Given the description of an element on the screen output the (x, y) to click on. 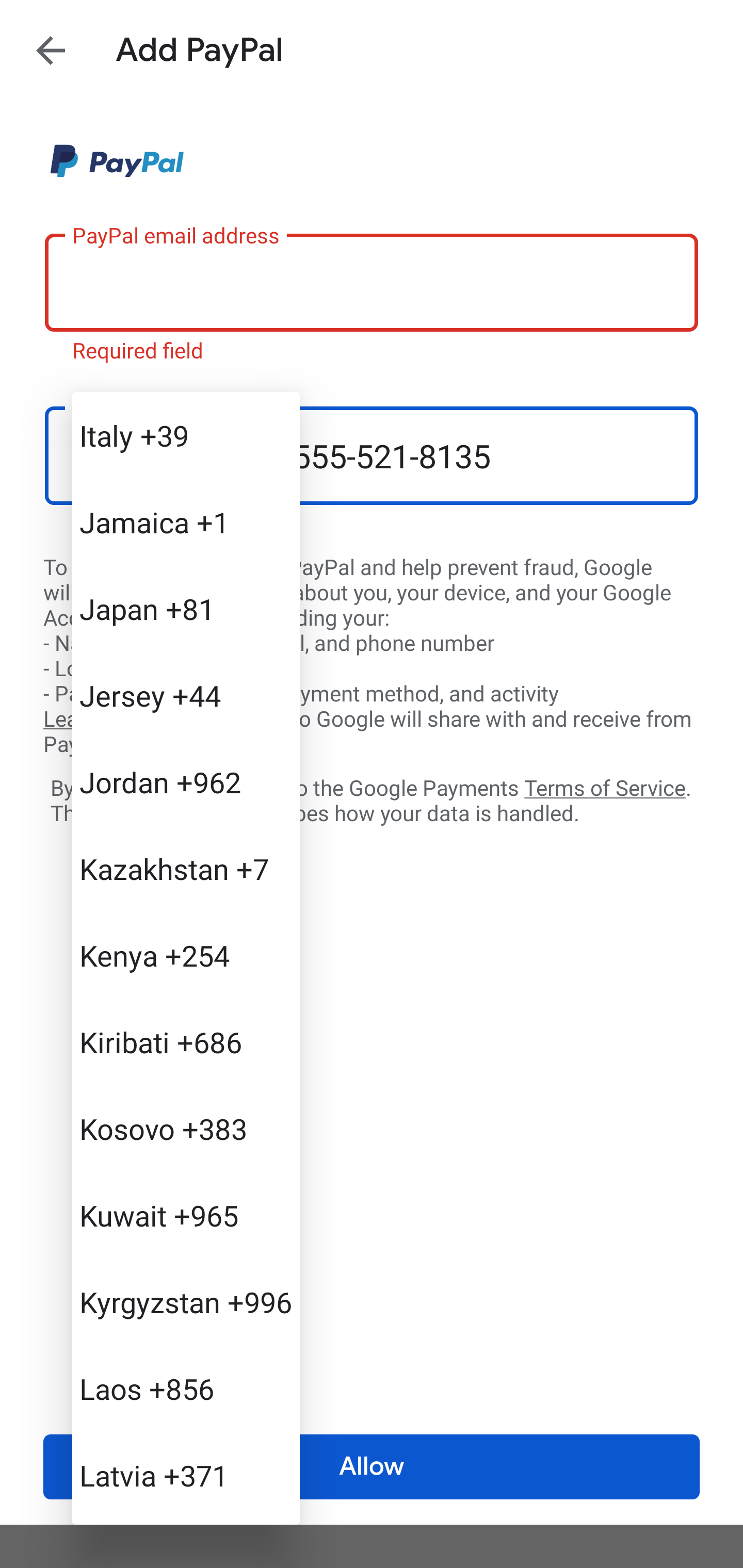
Italy +39 (185, 435)
Jamaica +1 (185, 522)
Japan +81 (185, 609)
Jersey +44 (185, 695)
Jordan +962 (185, 781)
Kazakhstan +7 (185, 868)
Kenya +254 (185, 955)
Kiribati +686 (185, 1041)
Kosovo +383 (185, 1128)
Kuwait +965 (185, 1215)
Kyrgyzstan +996 (185, 1302)
Laos +856 (185, 1388)
Latvia +371 (185, 1474)
